Given the description of an element on the screen output the (x, y) to click on. 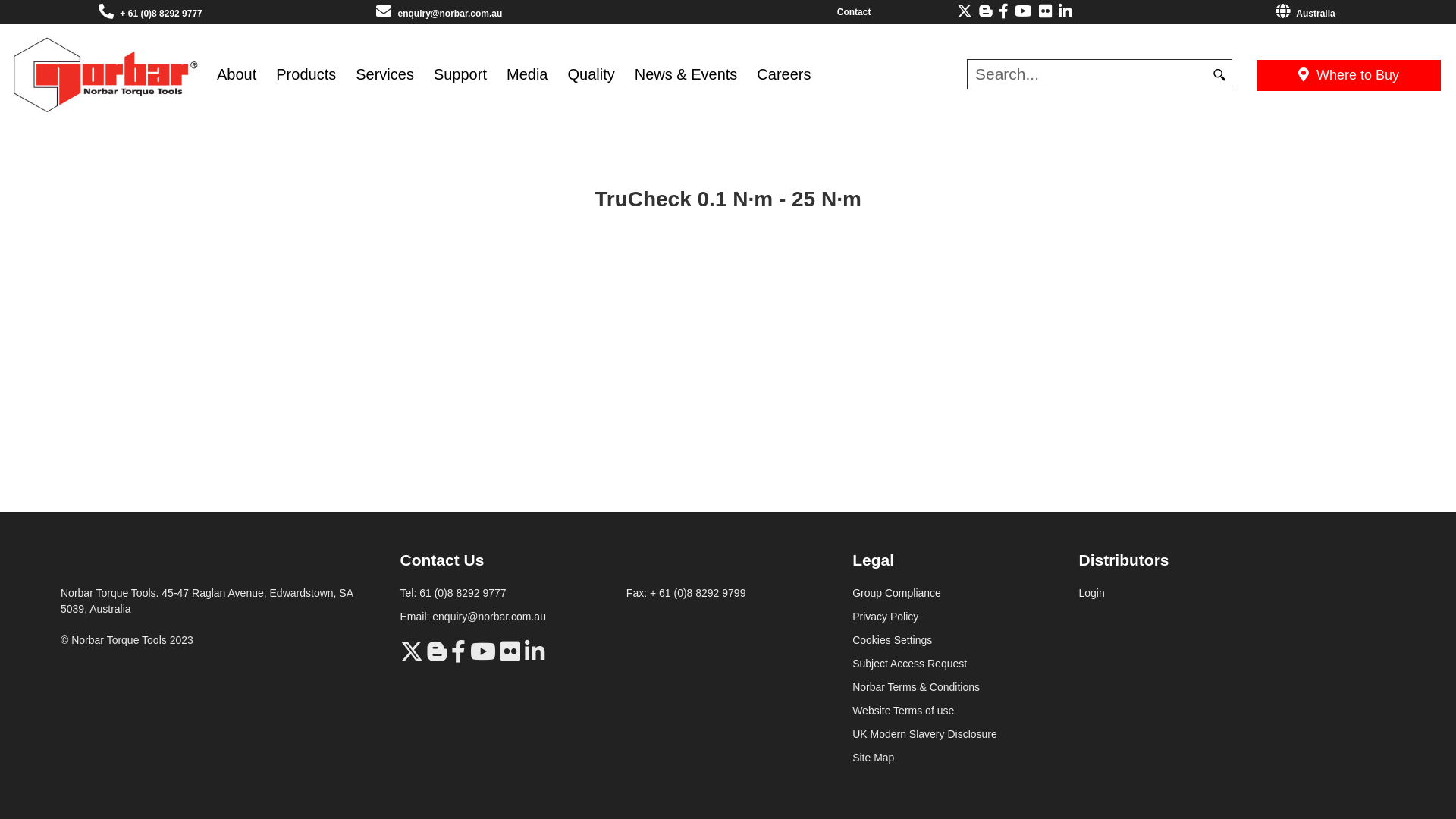
Website Terms of use Element type: text (902, 710)
Subject Access Request Element type: text (909, 663)
Fax: + 61 (0)8 8292 9799 Element type: text (686, 592)
Norbar Element type: hover (105, 72)
+ 61 (0)8 8292 9777 Element type: text (160, 13)
Careers Element type: text (783, 74)
Group Compliance Element type: text (896, 592)
Australia Element type: text (1304, 13)
Site Map Element type: text (873, 757)
Services Element type: text (384, 74)
About Element type: text (236, 74)
Media Element type: text (526, 74)
Support Element type: text (459, 74)
Search Element type: hover (1218, 73)
Norbar Terms & Conditions Element type: text (915, 686)
Privacy Policy Element type: text (885, 616)
Login Element type: text (1091, 592)
Email: enquiry@norbar.com.au Element type: text (473, 616)
Contact Element type: text (854, 11)
enquiry@norbar.com.au Element type: text (449, 13)
Products Element type: text (305, 74)
Quality Element type: text (590, 74)
UK Modern Slavery Disclosure Element type: text (924, 734)
News & Events Element type: text (685, 74)
Tel: 61 (0)8 8292 9777 Element type: text (453, 592)
